Given the description of an element on the screen output the (x, y) to click on. 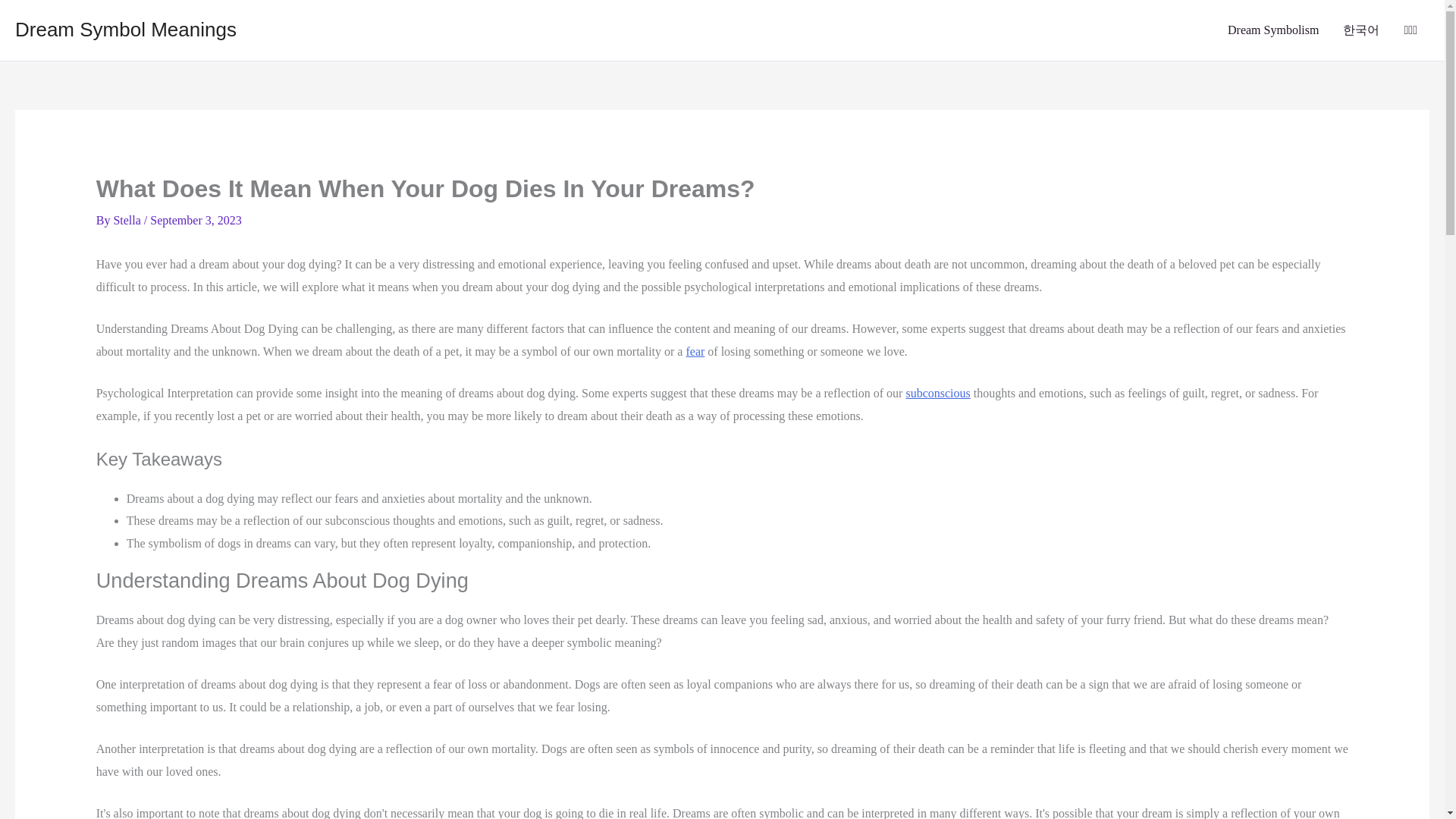
fear (694, 350)
Stella (127, 219)
subconscious (937, 392)
Posts tagged with Fear (694, 350)
View all posts by Stella (127, 219)
Posts tagged with Subconscious (937, 392)
Dream Symbolism (1272, 30)
Dream Symbol Meanings (124, 29)
